Given the description of an element on the screen output the (x, y) to click on. 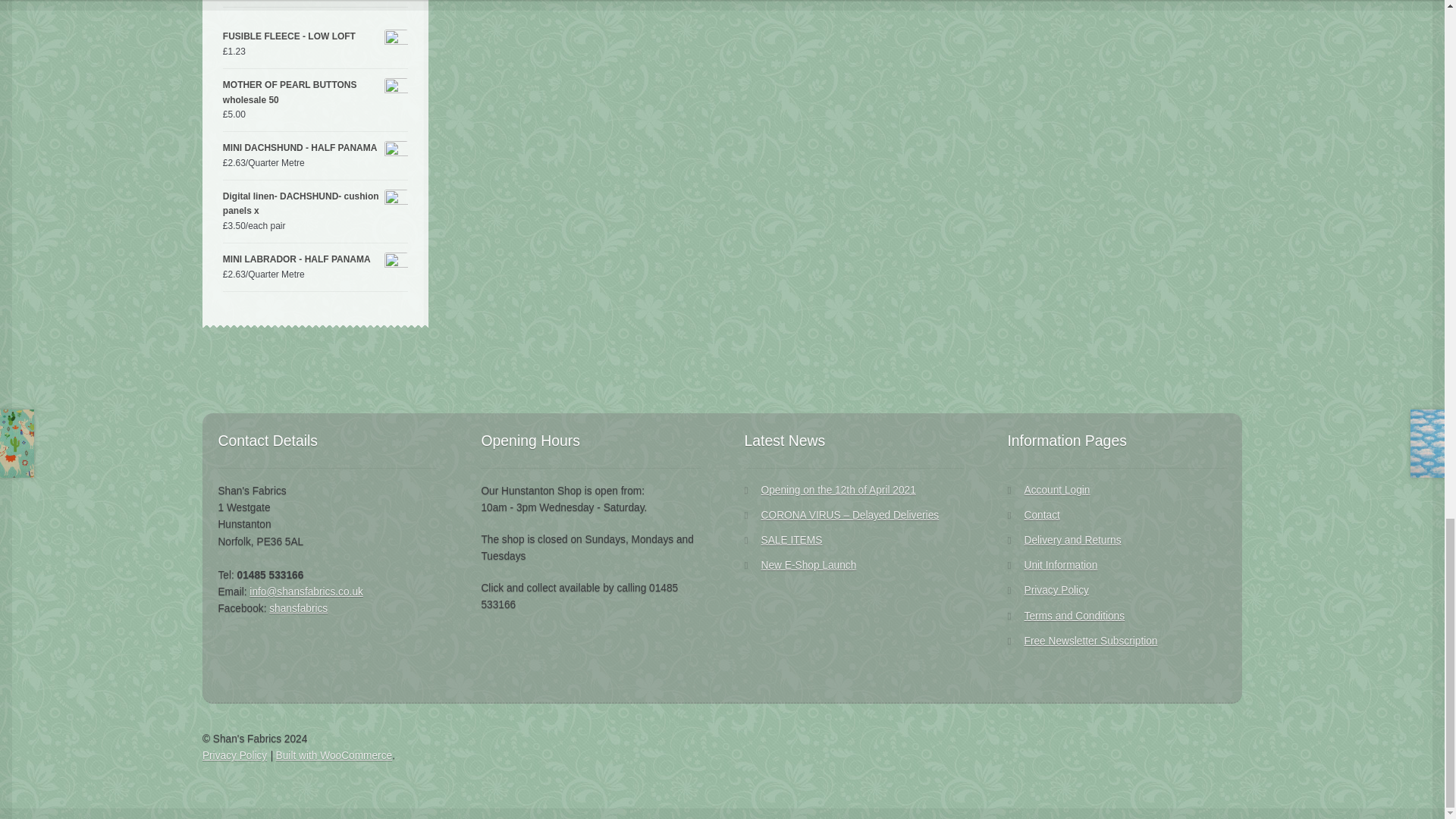
WooCommerce - The Best eCommerce Platform for WordPress (334, 755)
